Given the description of an element on the screen output the (x, y) to click on. 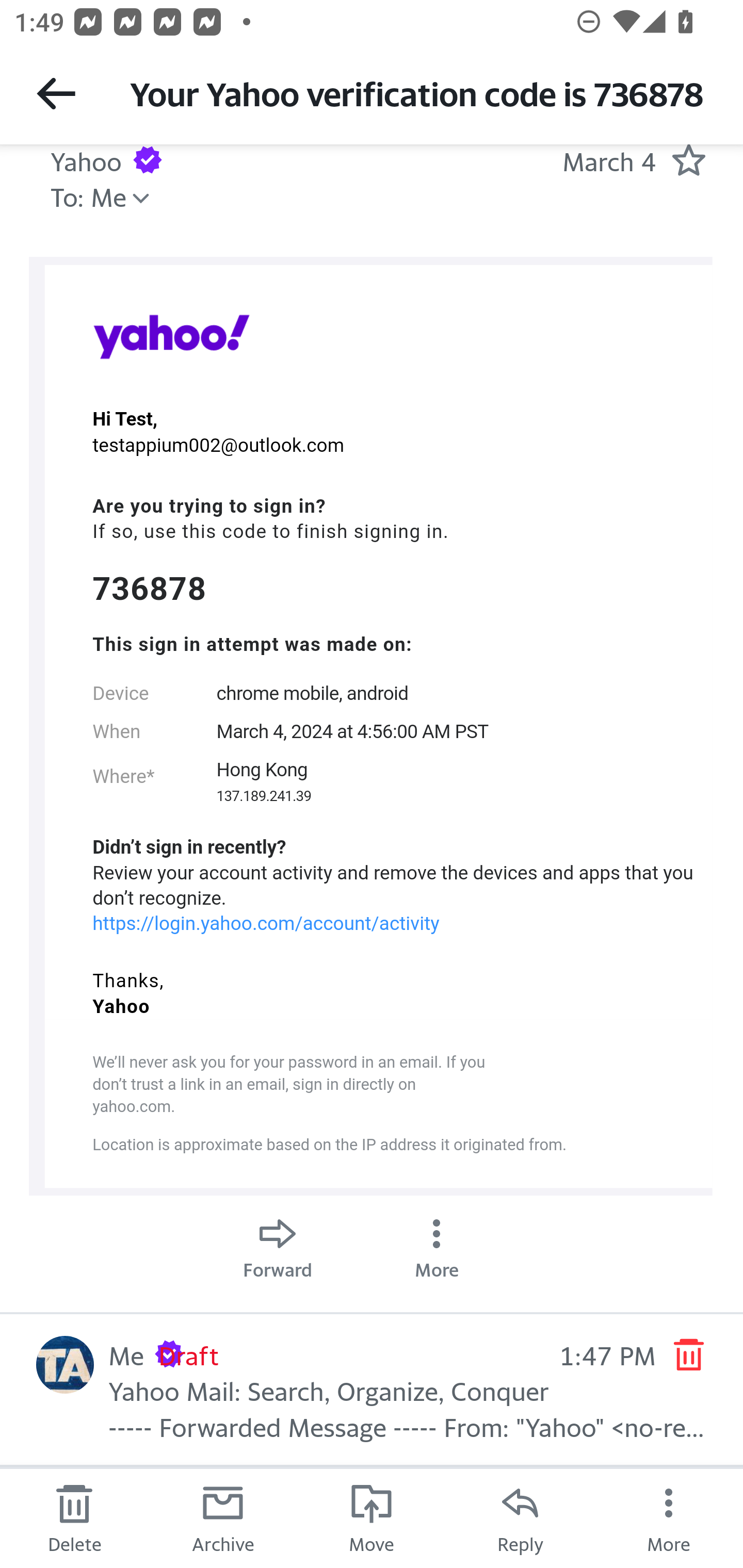
Back (55, 92)
Mark as starred. (688, 160)
Yahoo (171, 336)
https://login.yahoo.com/account/activity (265, 922)
Forward (277, 1243)
More (436, 1243)
Profile (64, 1364)
Delete draft (688, 1353)
Delete (74, 1517)
Archive (222, 1517)
Move (371, 1517)
Reply (519, 1517)
More (668, 1517)
